Given the description of an element on the screen output the (x, y) to click on. 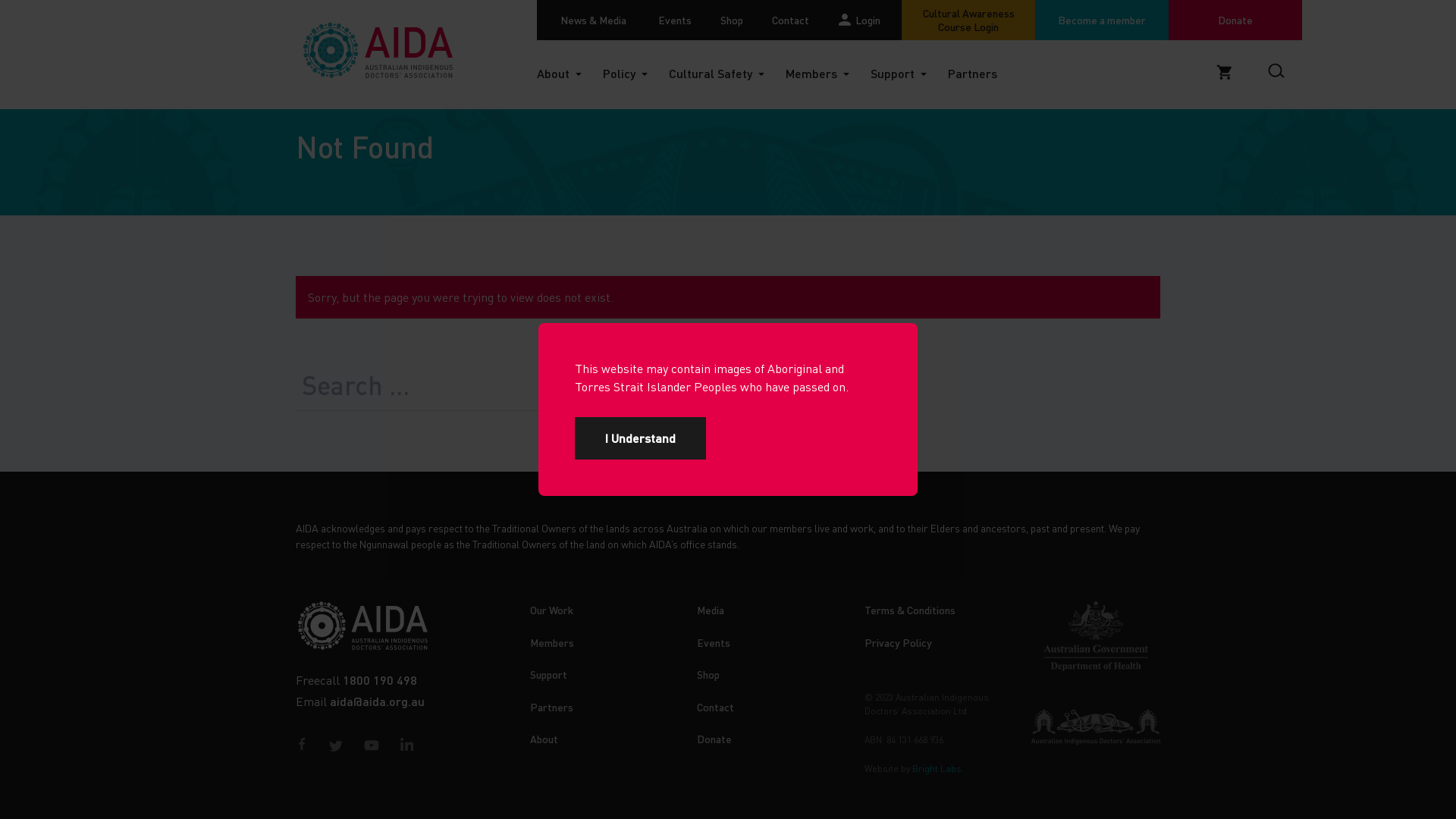
Cultural Awareness Course Login Element type: text (968, 19)
1800 190 498 Element type: text (379, 679)
Donate Element type: text (1235, 20)
Events Element type: text (713, 642)
Cultural Safety Element type: text (726, 73)
Bright Labs Element type: text (935, 768)
Support Element type: text (908, 73)
Members Element type: text (827, 73)
Partners Element type: text (984, 73)
aida@aida.org.au Element type: text (376, 701)
Our Work Element type: text (550, 609)
Media Element type: text (710, 609)
Events Element type: text (674, 20)
Shop Element type: text (731, 20)
Terms & Conditions Element type: text (909, 609)
Become a member Element type: text (1101, 20)
Partners Element type: text (550, 706)
Support Element type: text (547, 673)
Contact Element type: text (790, 20)
Login Element type: text (863, 20)
I Understand Element type: text (640, 438)
News & Media Element type: text (589, 20)
About Element type: text (543, 738)
About Element type: text (569, 73)
Search Element type: text (680, 389)
Policy Element type: text (635, 73)
Privacy Policy Element type: text (897, 642)
Donate Element type: text (713, 738)
Shop Element type: text (707, 673)
Contact Element type: text (715, 706)
Members Element type: text (551, 642)
